Given the description of an element on the screen output the (x, y) to click on. 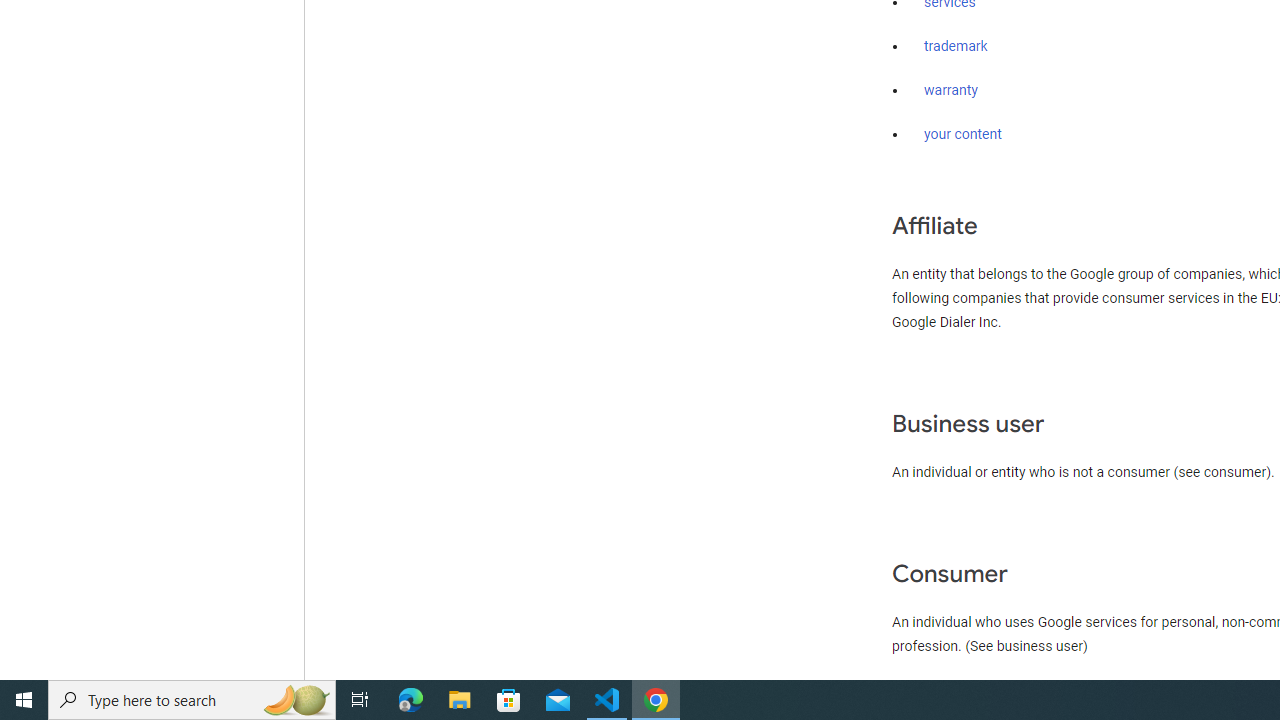
warranty (950, 91)
trademark (956, 47)
your content (963, 134)
